Given the description of an element on the screen output the (x, y) to click on. 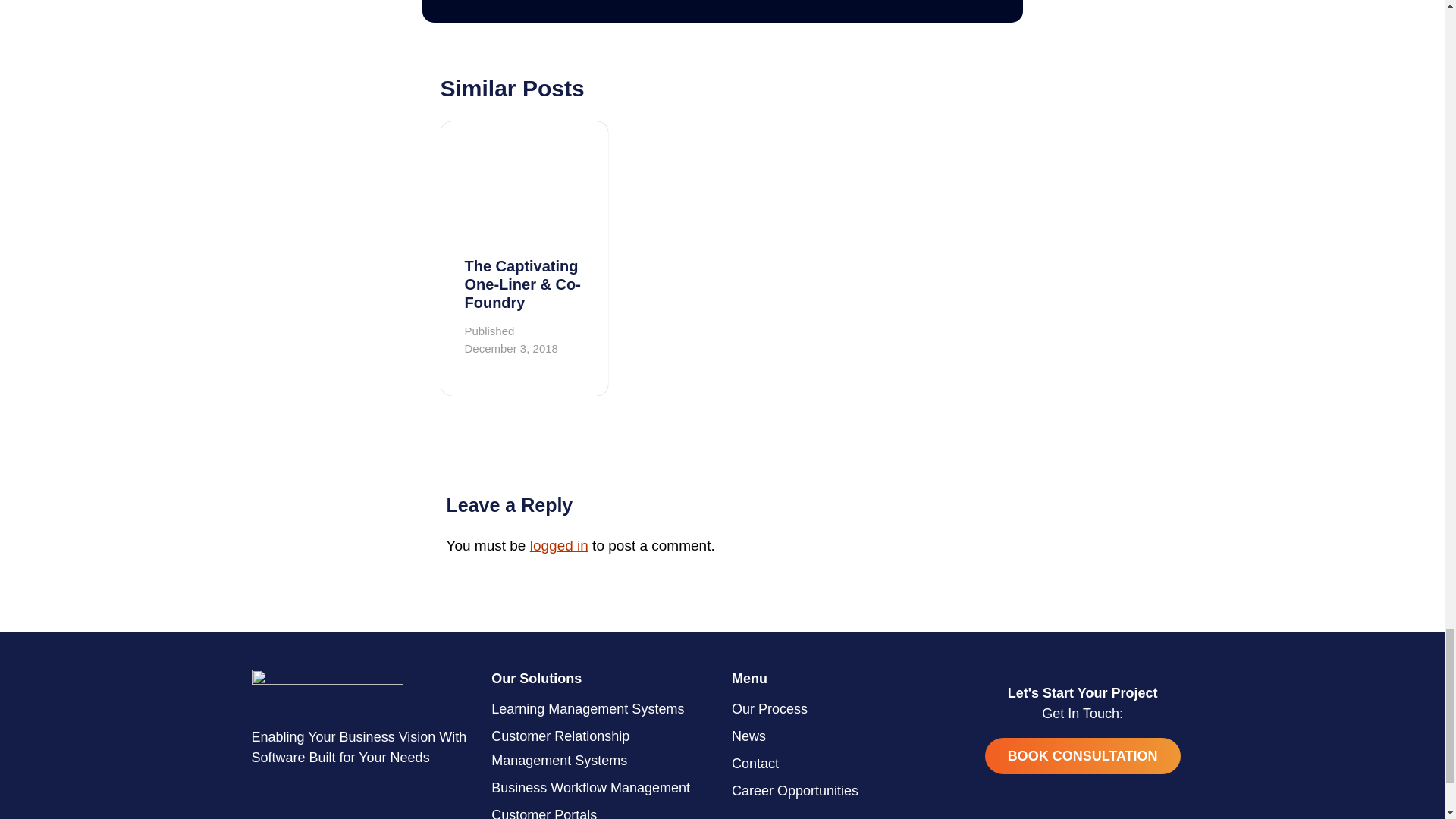
logged in (558, 545)
Business Workflow Management (602, 787)
Career Opportunities (842, 790)
Customer Relationship Management Systems (602, 747)
BOOK CONSULTATION (1082, 755)
Customer Portals (602, 810)
Our Process (842, 708)
Contact (842, 763)
Learning Management Systems (602, 708)
News (842, 736)
